Given the description of an element on the screen output the (x, y) to click on. 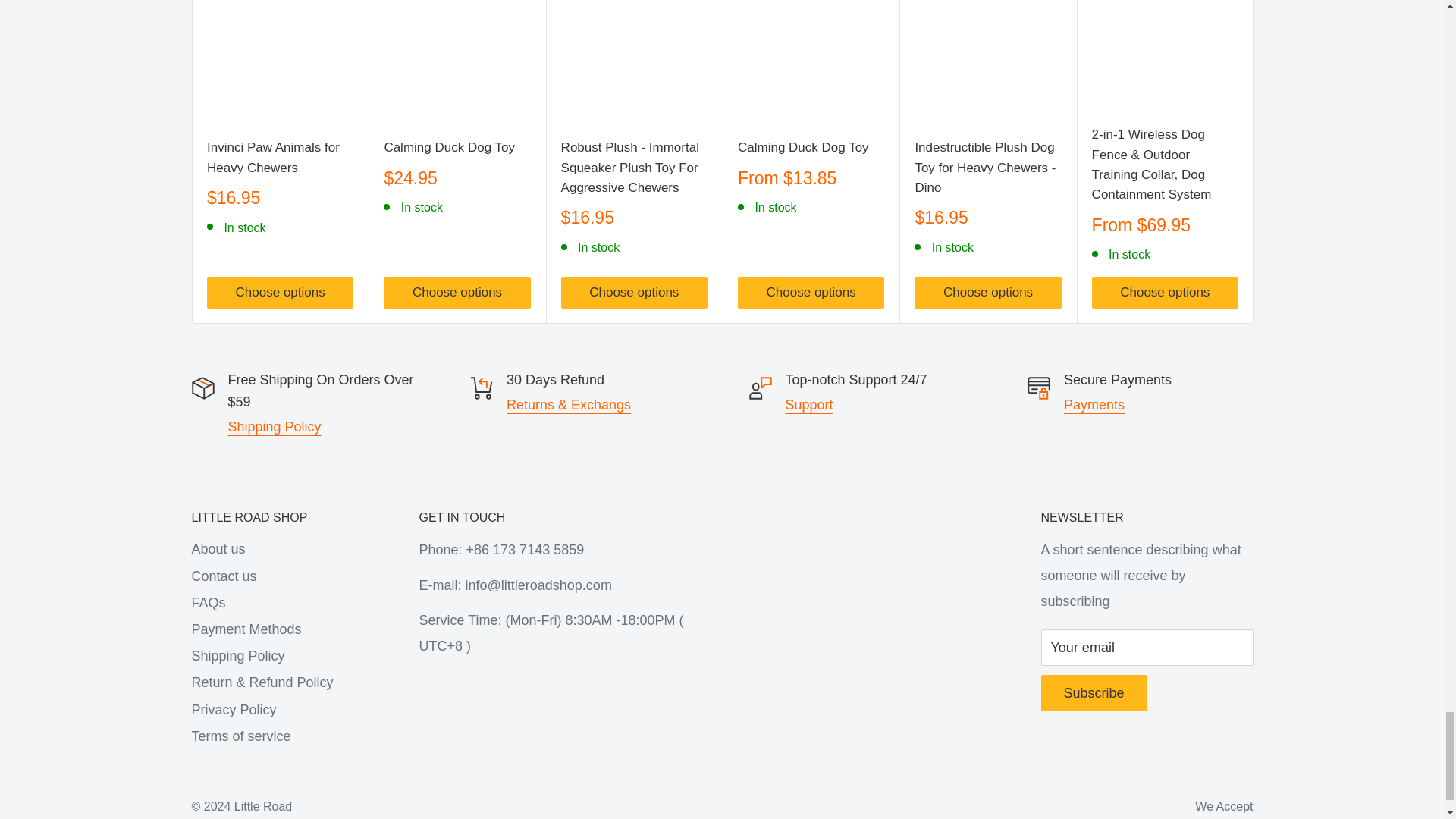
Contact us (809, 404)
Payment Methods (1094, 404)
